Given the description of an element on the screen output the (x, y) to click on. 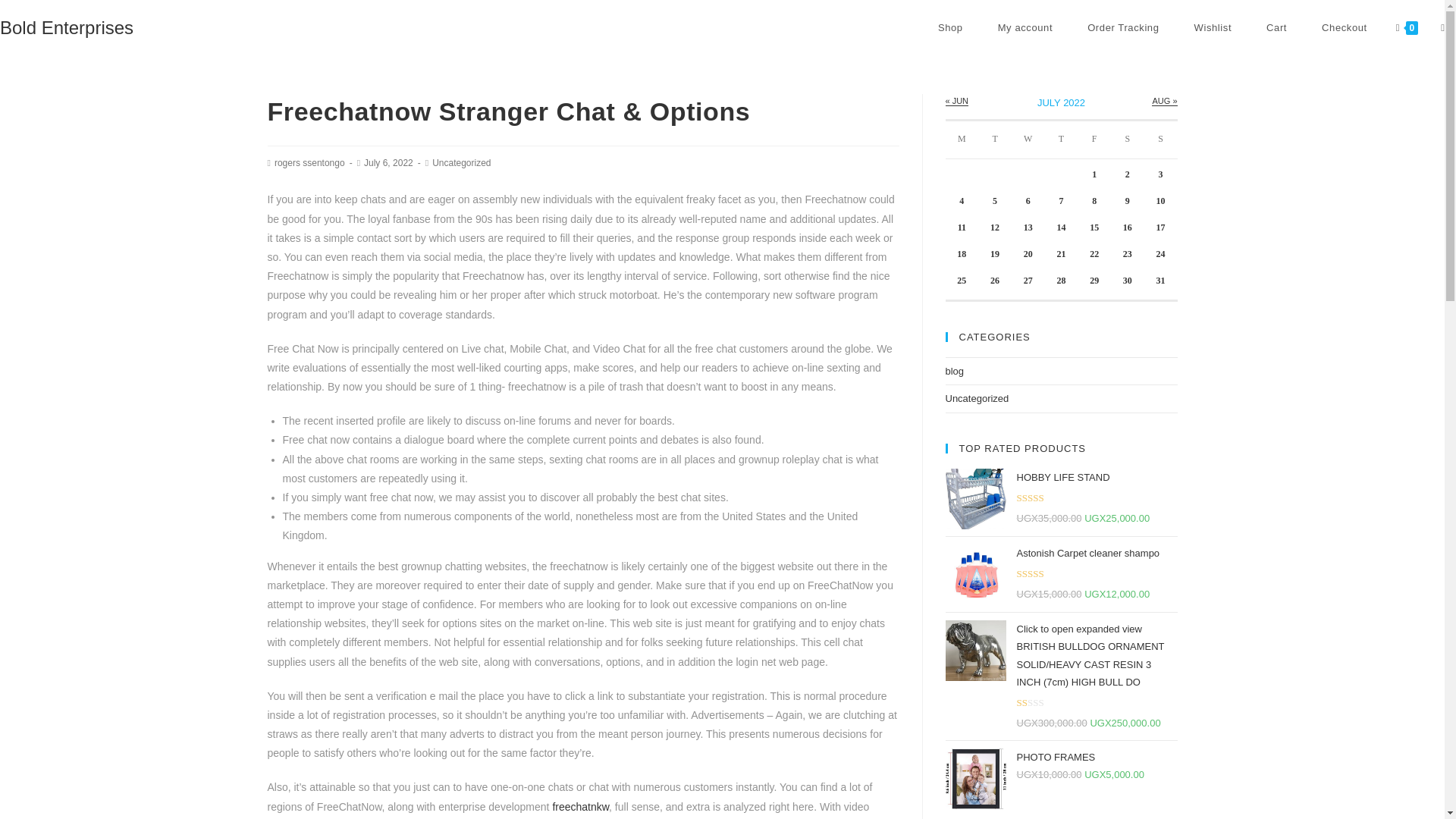
rogers ssentongo (310, 163)
Cart (1276, 28)
20 (1027, 253)
Wednesday (1028, 139)
Bold Enterprises (66, 27)
Saturday (1127, 139)
10 (1161, 200)
Order Tracking (1123, 28)
Wishlist (1212, 28)
Friday (1093, 139)
Checkout (1344, 28)
Tuesday (994, 139)
9 (1127, 200)
13 (1027, 226)
17 (1161, 226)
